Given the description of an element on the screen output the (x, y) to click on. 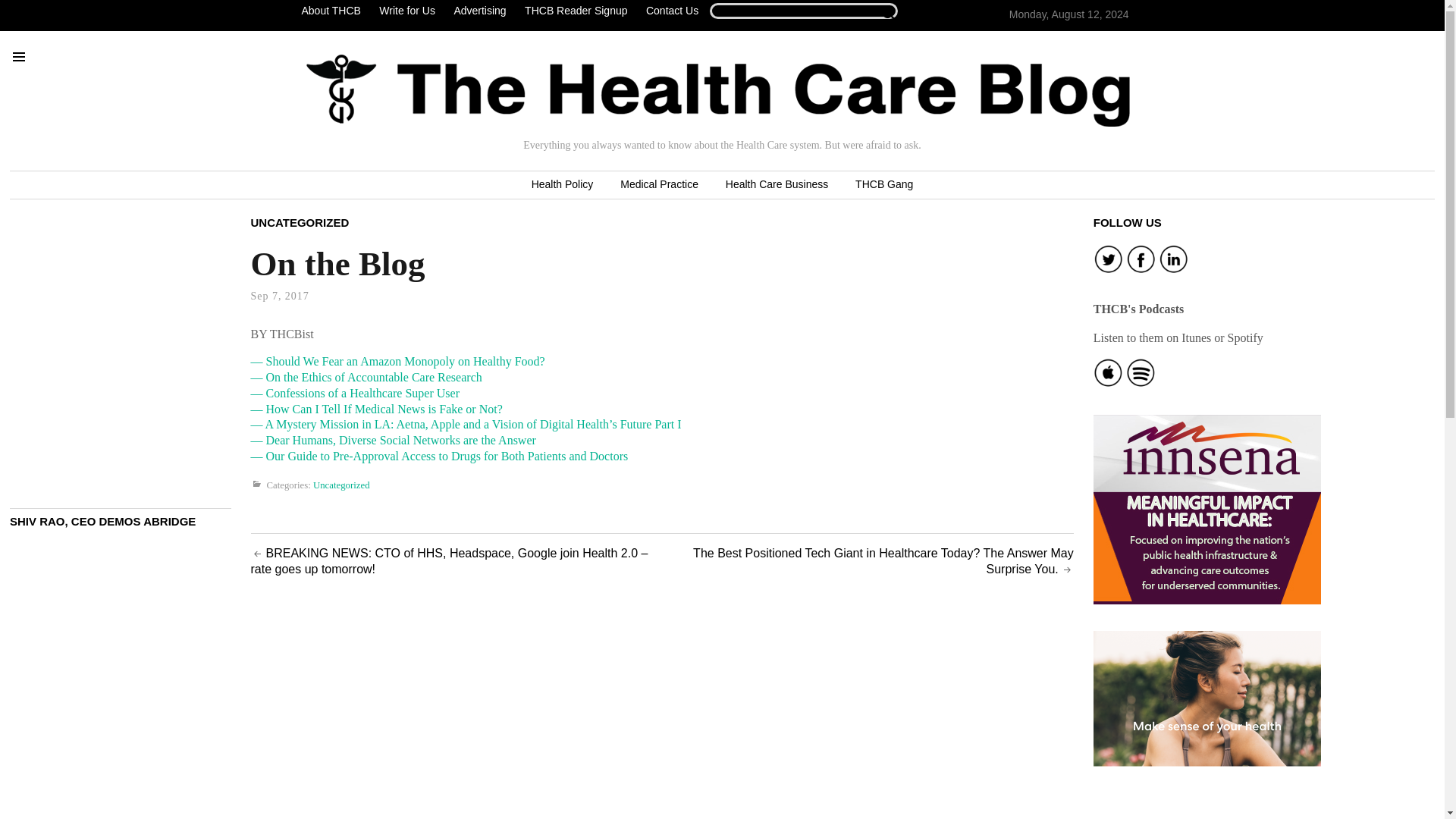
Contact Us (672, 10)
About THCB (334, 10)
Write for Us (406, 10)
UNCATEGORIZED (299, 221)
Advertising (479, 10)
Health Policy (562, 184)
THCB Gang (883, 184)
Home (718, 90)
Uncategorized (341, 485)
